Given the description of an element on the screen output the (x, y) to click on. 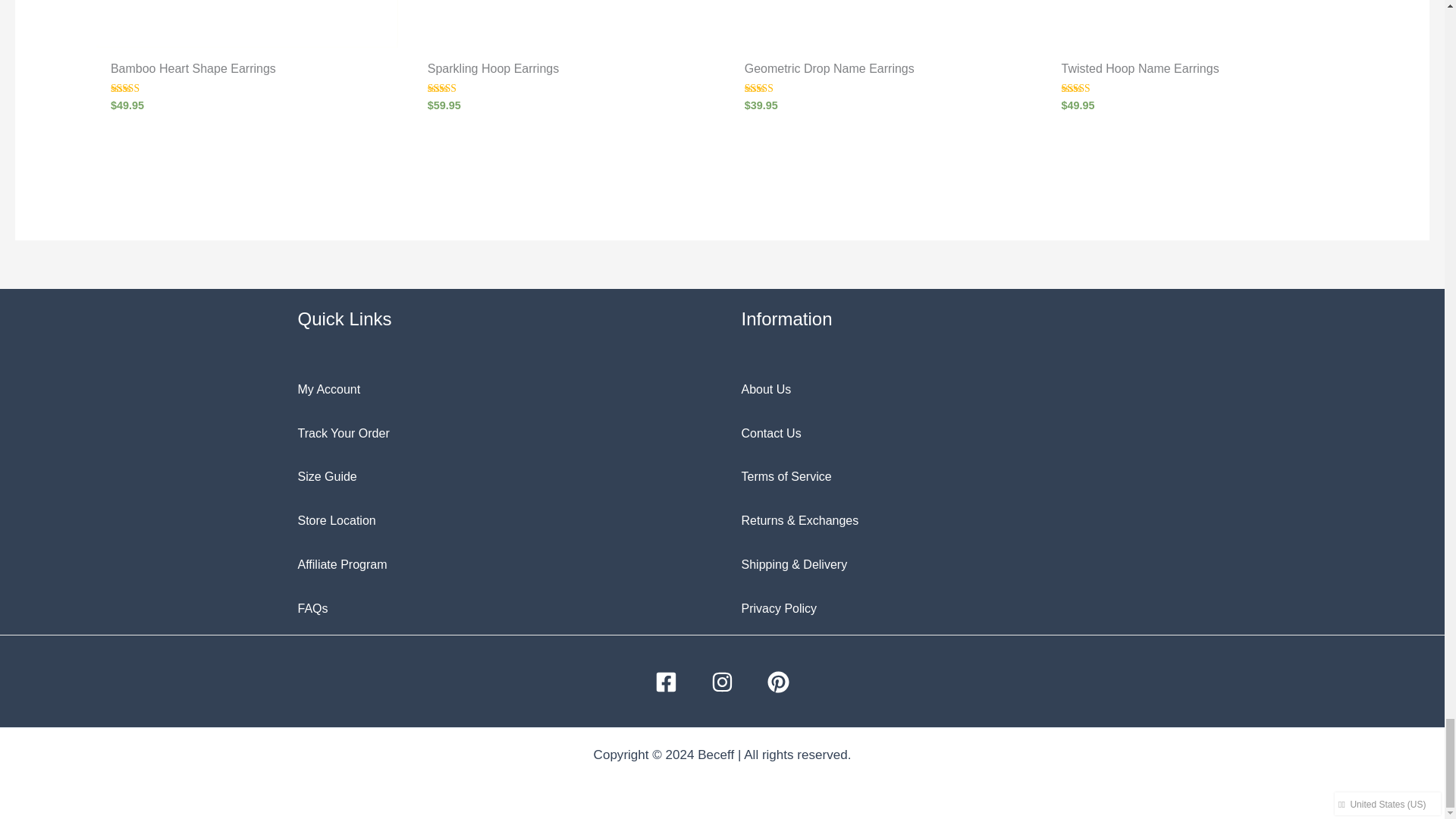
Geometric Drop Name Earrings (880, 72)
Sparkling Hoop Earrings (564, 72)
Bamboo Heart Shape Earrings (247, 72)
